Given the description of an element on the screen output the (x, y) to click on. 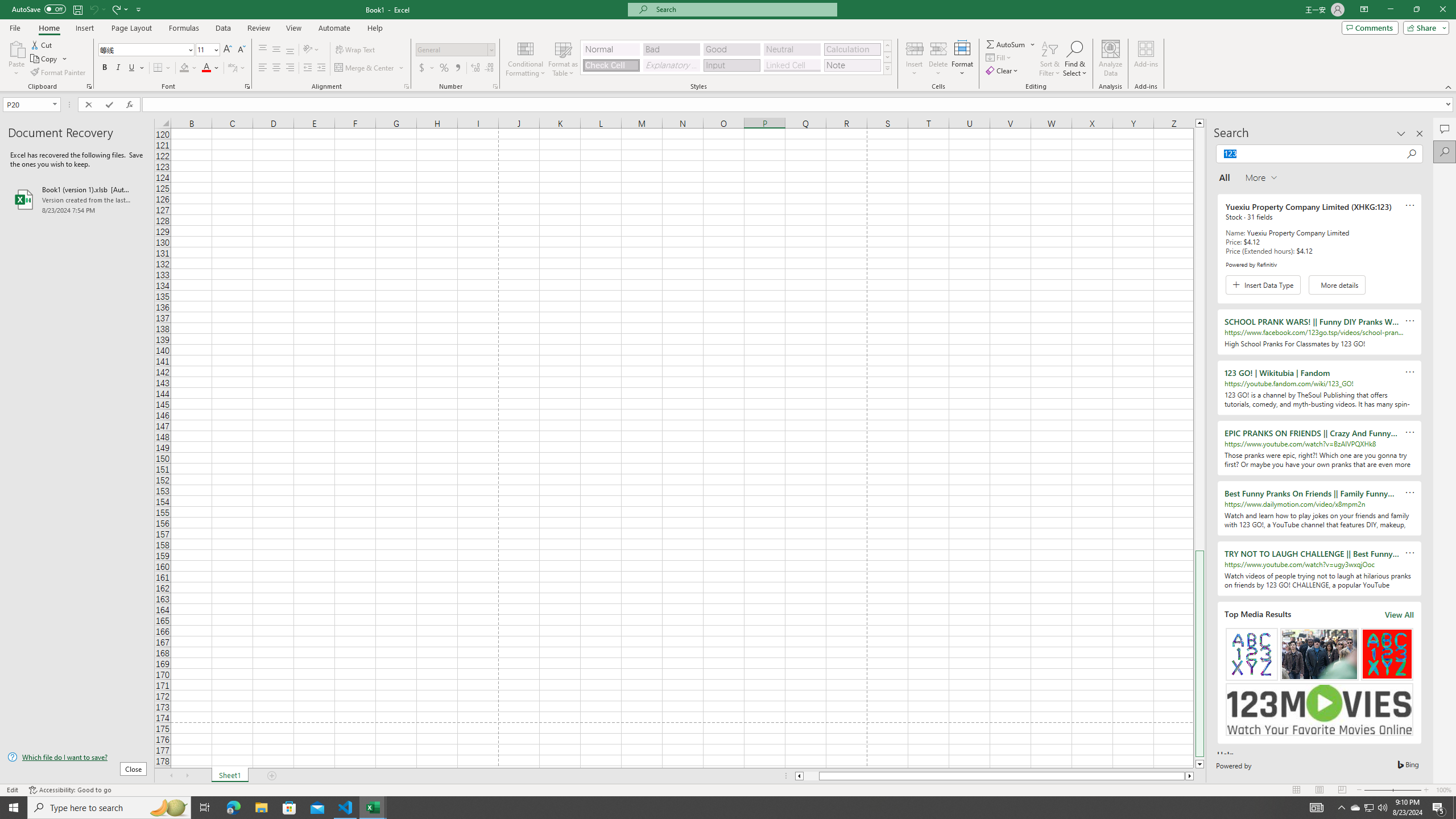
Format Cell Alignment (405, 85)
Good (731, 49)
Italic (118, 67)
Paste (16, 48)
Bottom Align (290, 49)
Check Cell (611, 65)
Bad (671, 49)
Decrease Indent (307, 67)
